Given the description of an element on the screen output the (x, y) to click on. 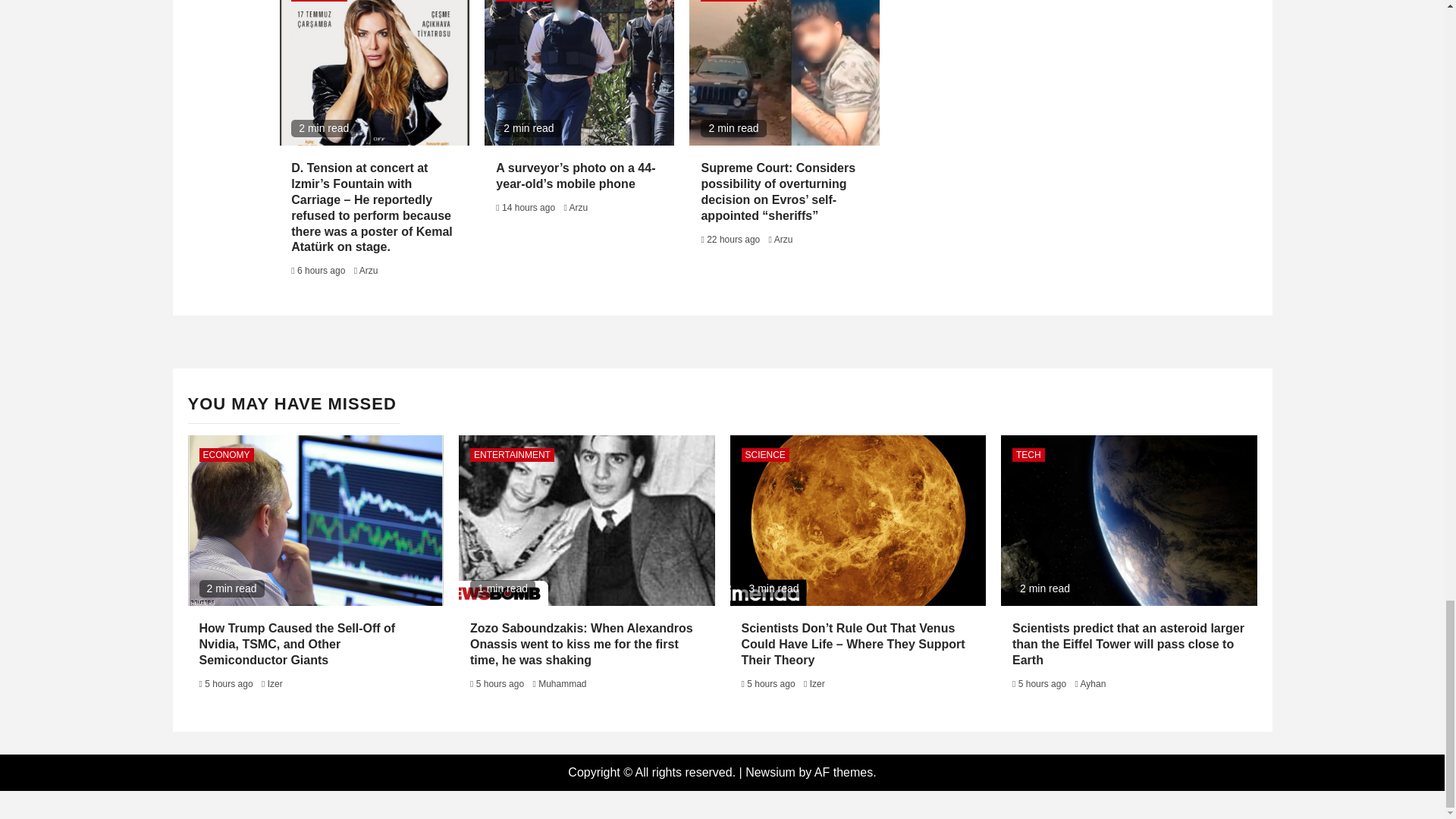
TOP NEWS (728, 0)
Arzu (783, 239)
Arzu (368, 270)
TOP NEWS (523, 0)
Arzu (578, 207)
TOP NEWS (319, 0)
